Given the description of an element on the screen output the (x, y) to click on. 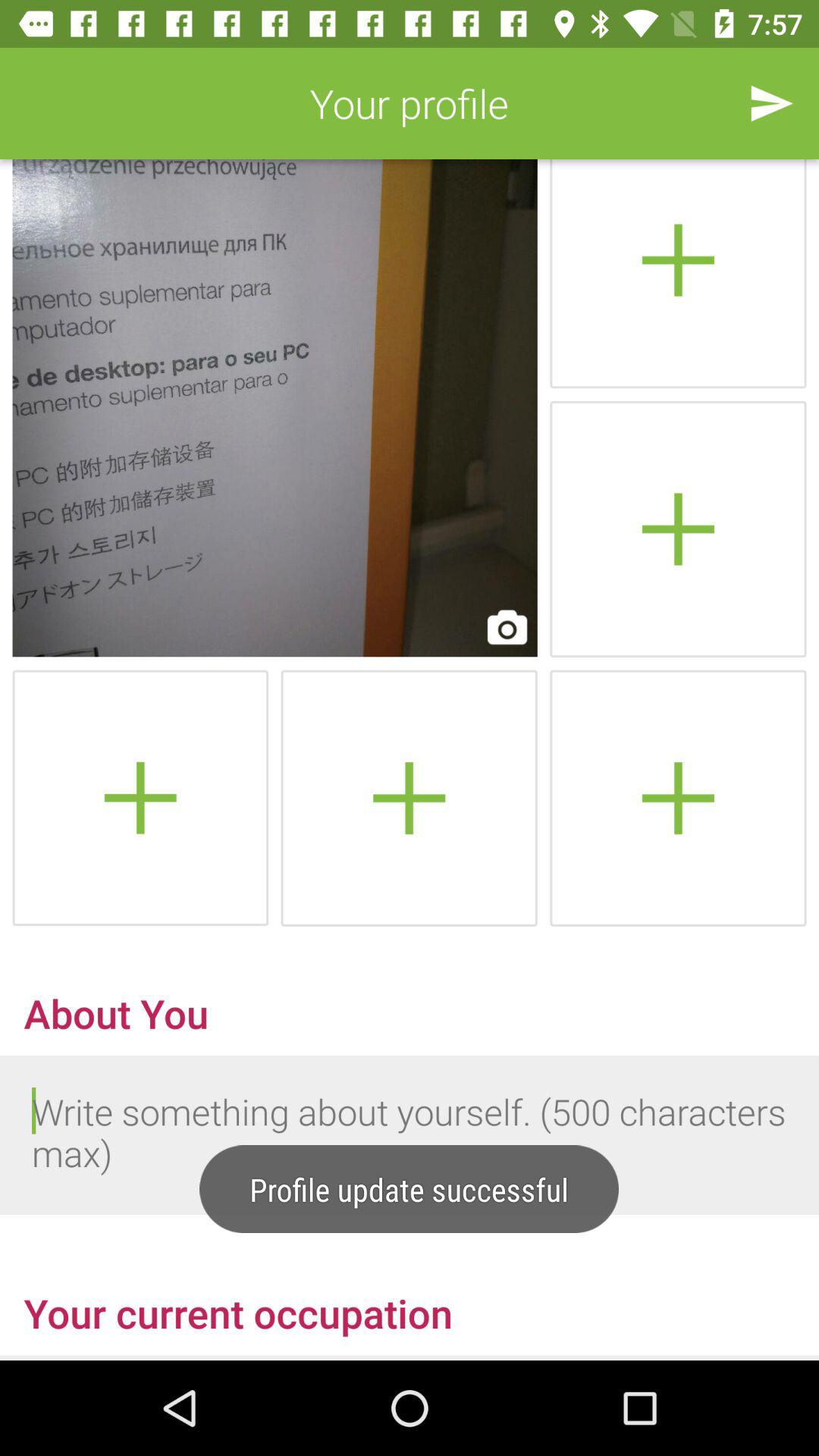
add picture (677, 797)
